Given the description of an element on the screen output the (x, y) to click on. 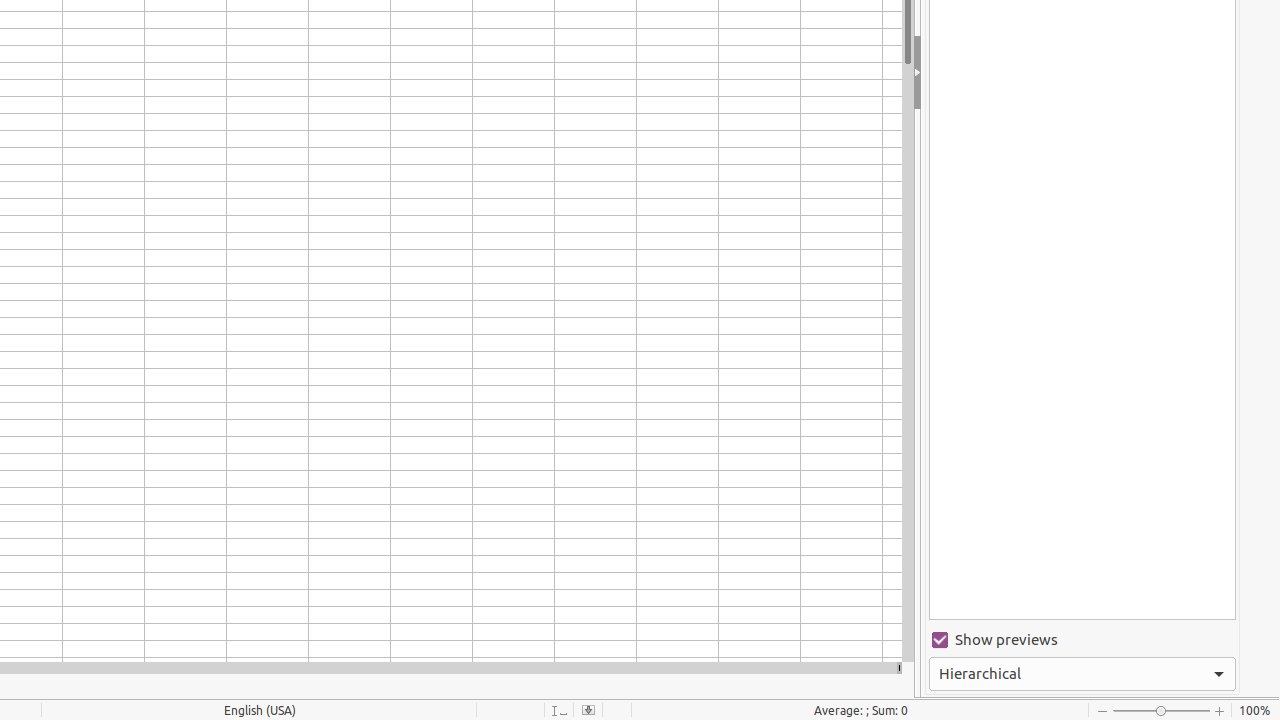
Show previews Element type: check-box (1082, 640)
